Given the description of an element on the screen output the (x, y) to click on. 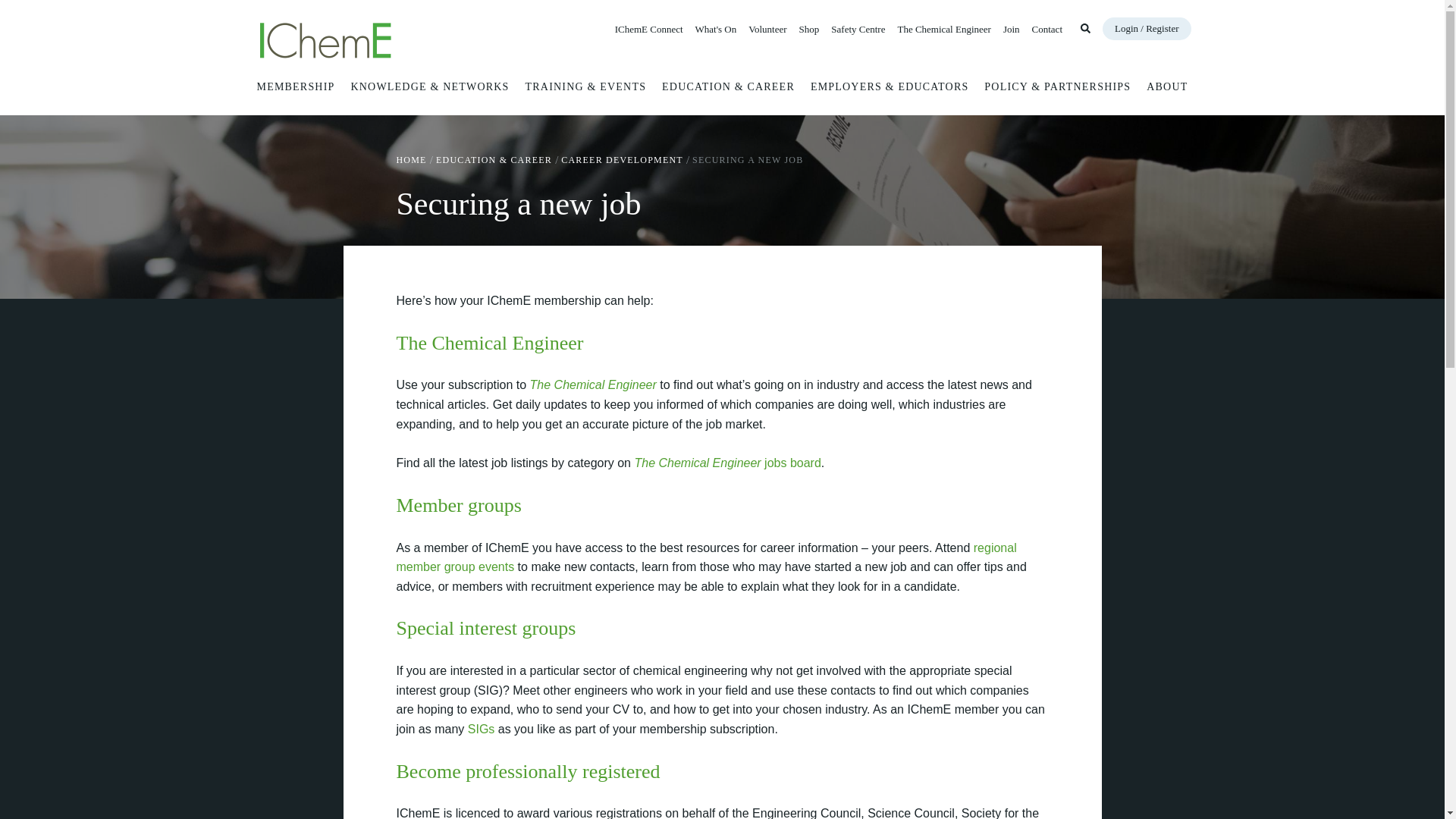
Volunteer (767, 29)
IChemE Connect (648, 29)
The Chemical Engineer (943, 29)
Login (1146, 28)
Safety Centre (858, 29)
Group events (706, 557)
What's On (715, 29)
